Given the description of an element on the screen output the (x, y) to click on. 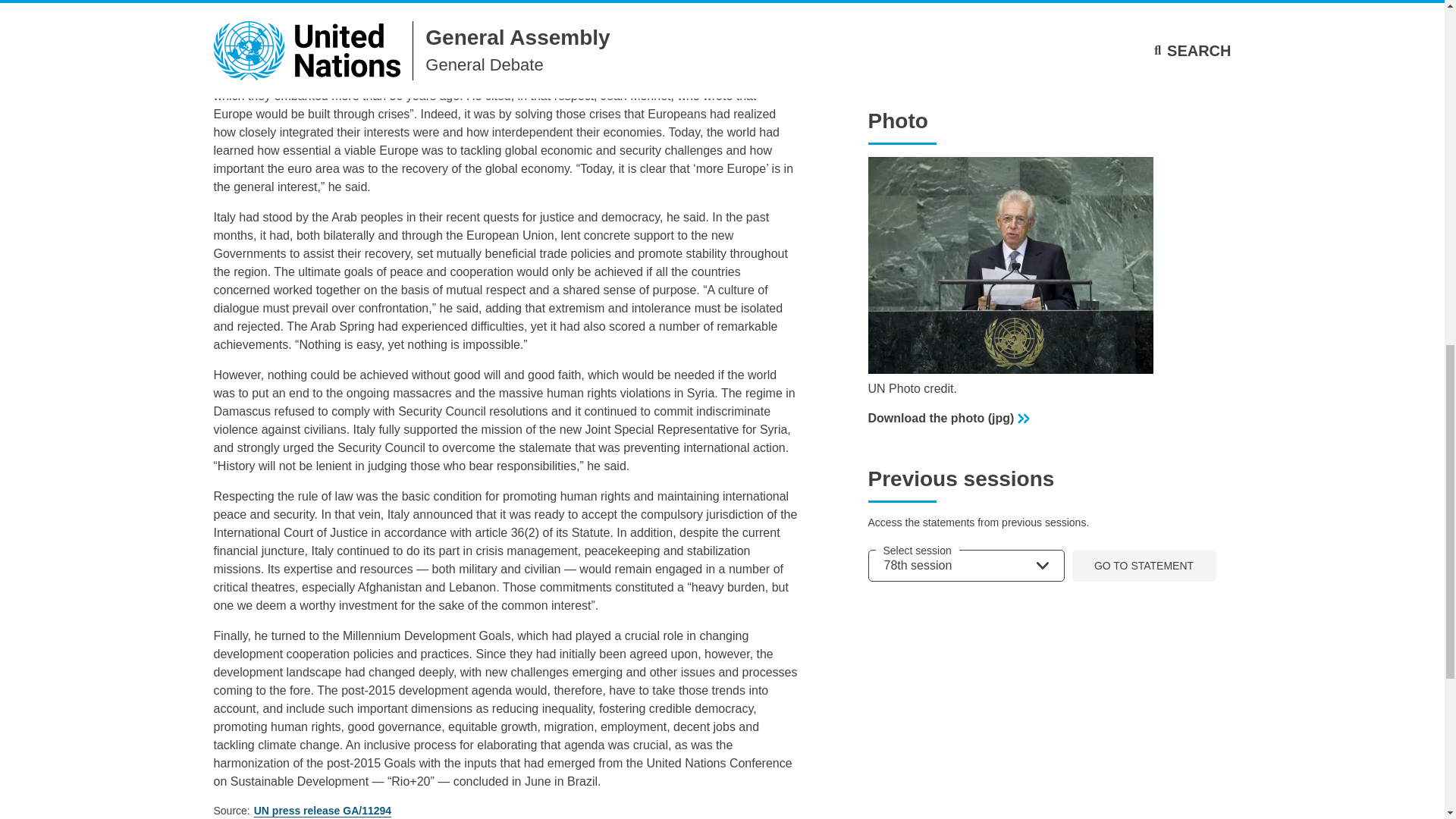
GO TO STATEMENT (1143, 564)
